Given the description of an element on the screen output the (x, y) to click on. 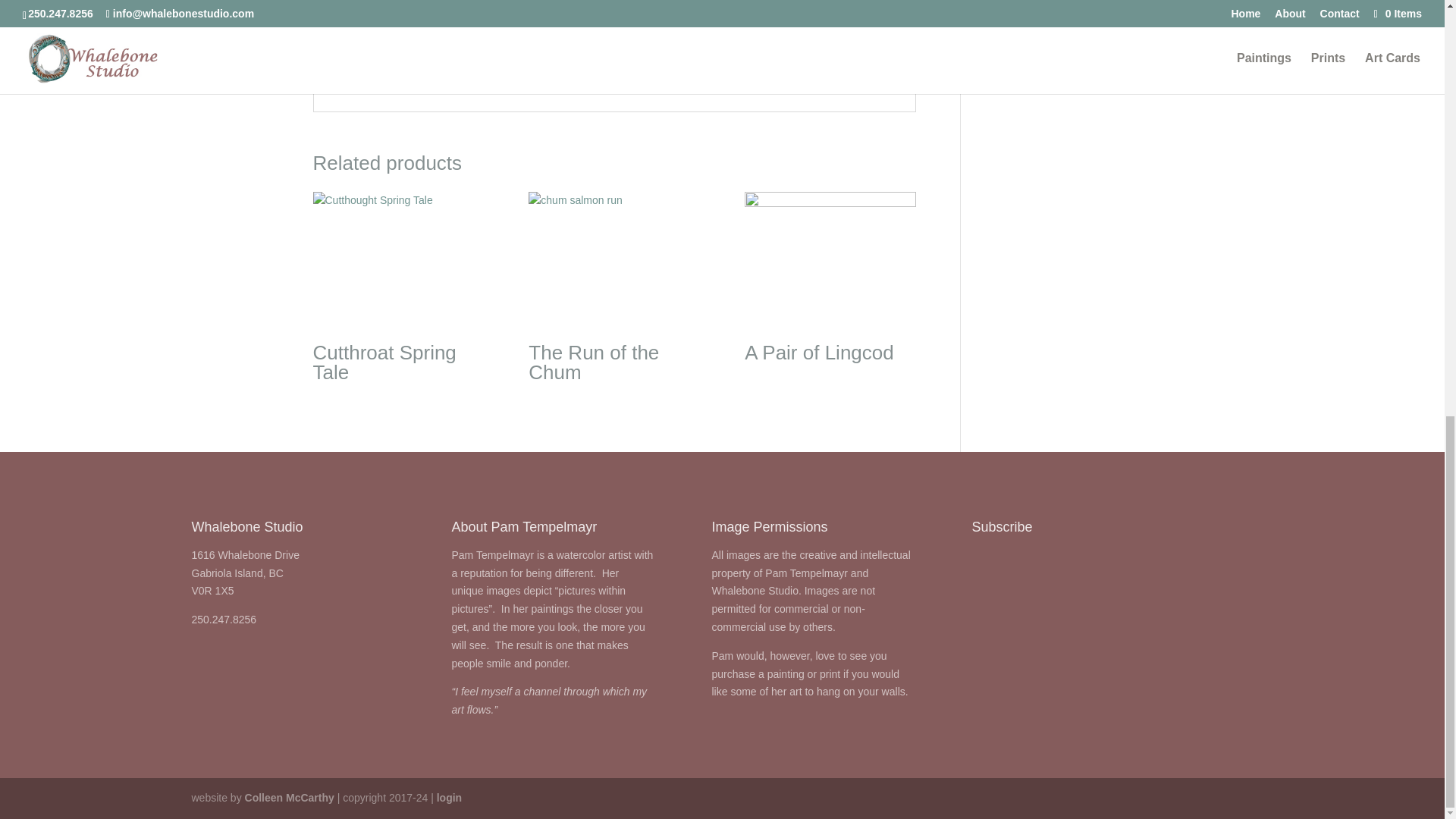
A Pair of Lingcod (829, 281)
login (448, 797)
Colleen McCarthy (289, 797)
